Given the description of an element on the screen output the (x, y) to click on. 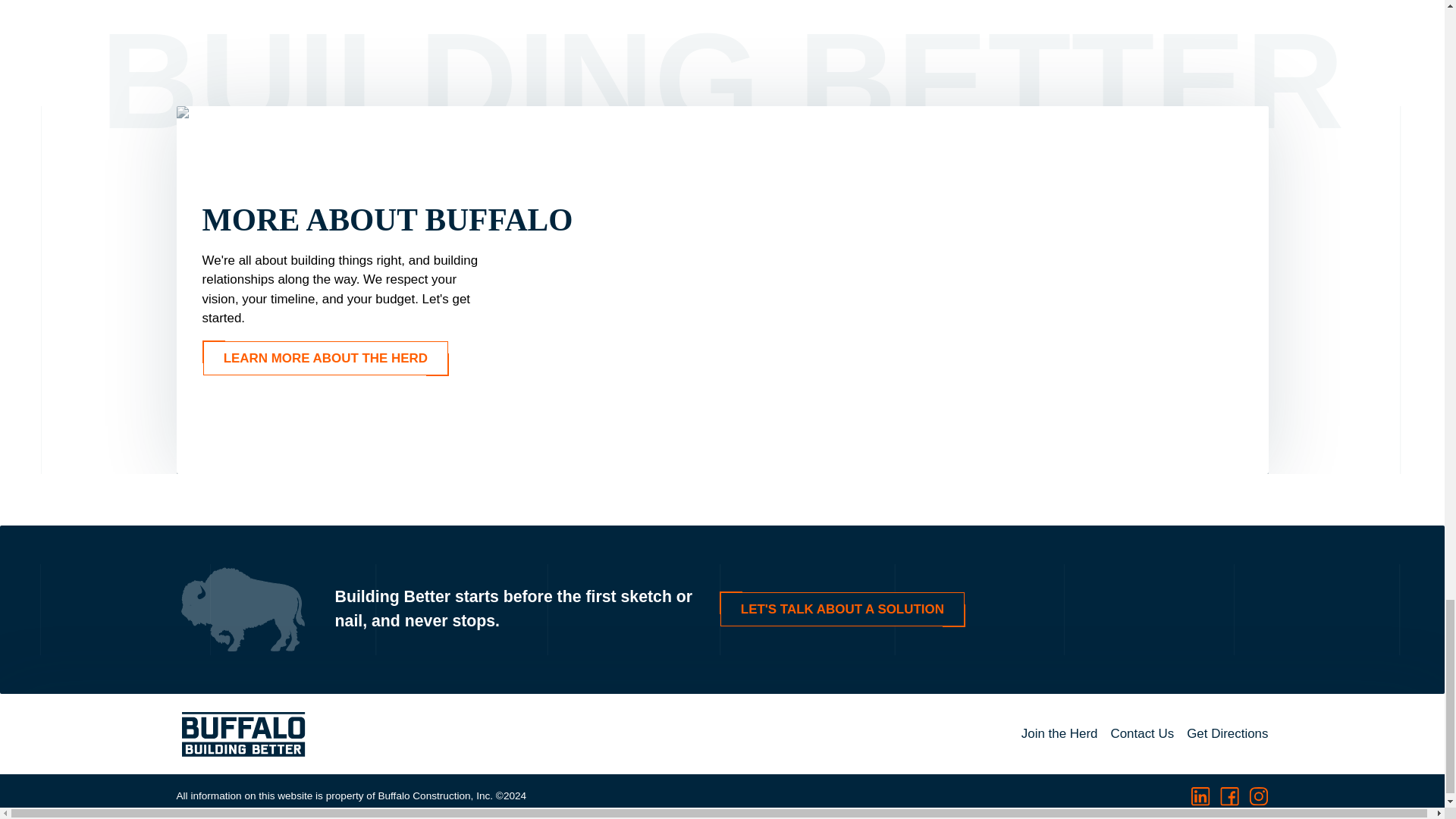
LEARN MORE ABOUT THE HERD (325, 358)
LET'S TALK ABOUT A SOLUTION (841, 609)
Contact Us (1141, 733)
Join the Herd (1059, 733)
Get Directions (1227, 733)
